Given the description of an element on the screen output the (x, y) to click on. 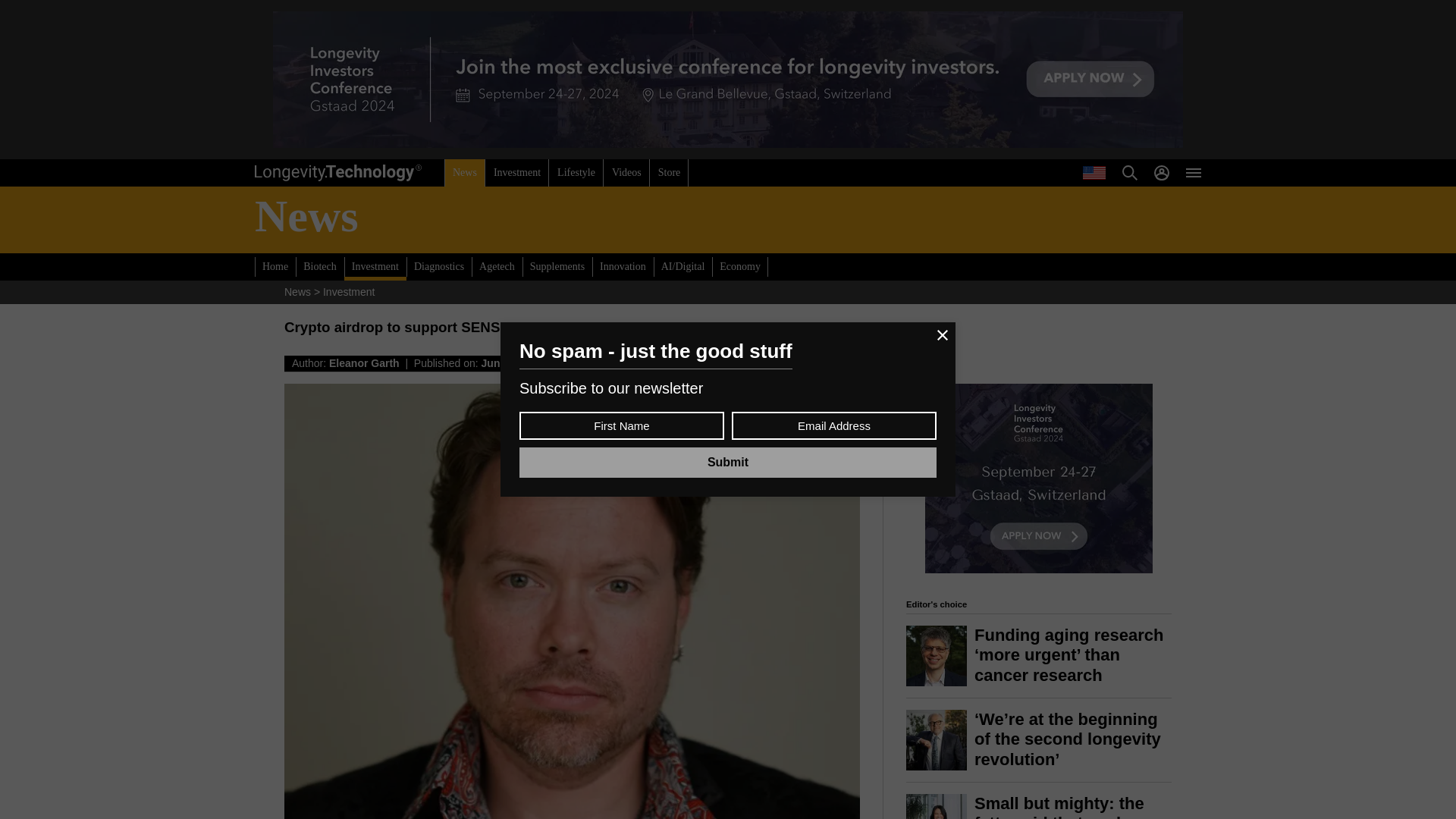
Store (668, 172)
Investment (516, 172)
Submit (727, 462)
Lifestyle (576, 172)
News (464, 172)
Videos (626, 172)
Submit (727, 462)
Posts by Eleanor Garth (363, 362)
